Given the description of an element on the screen output the (x, y) to click on. 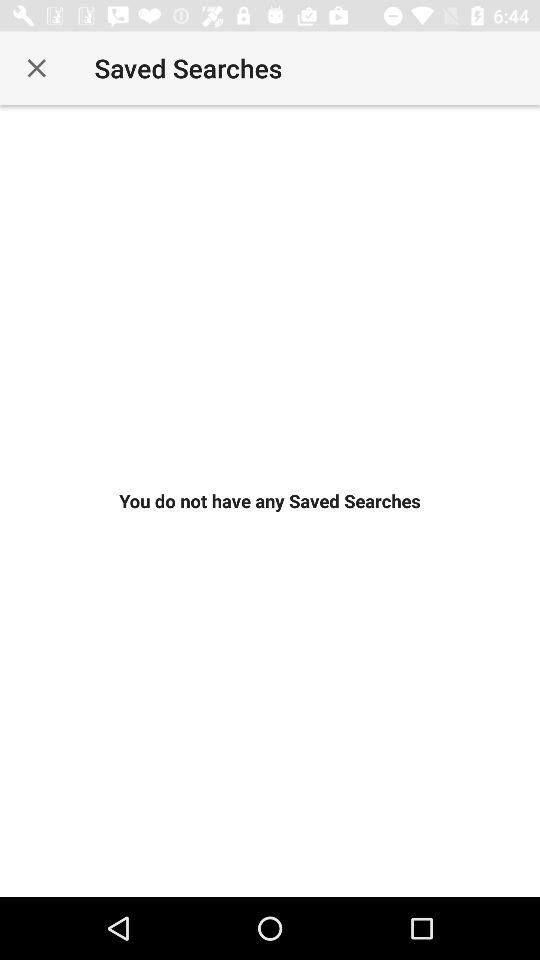
close button (36, 68)
